Given the description of an element on the screen output the (x, y) to click on. 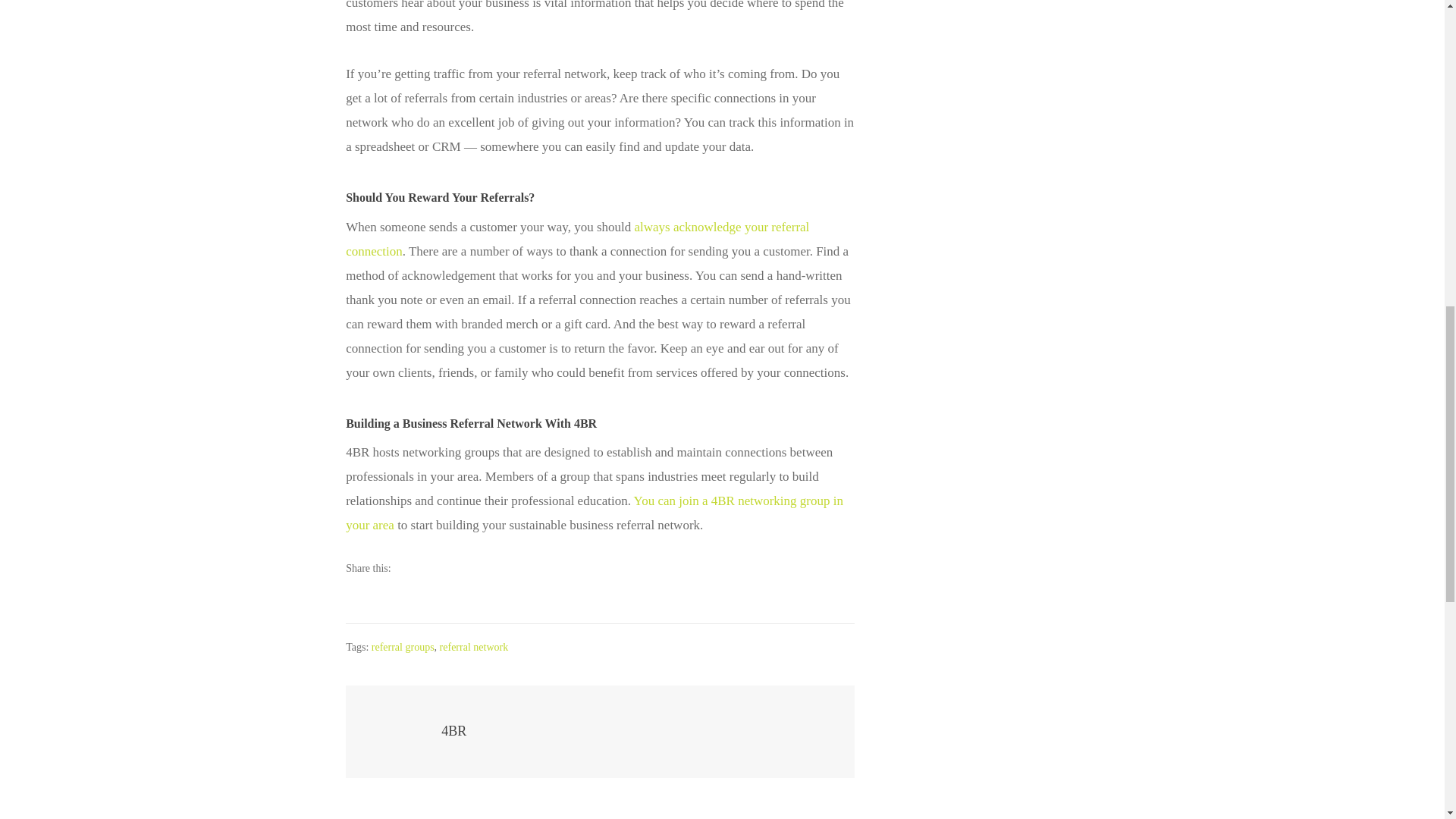
referral network (473, 646)
always acknowledge your referral connection (577, 239)
You can join a 4BR networking group in your area (594, 512)
referral groups (402, 646)
